Given the description of an element on the screen output the (x, y) to click on. 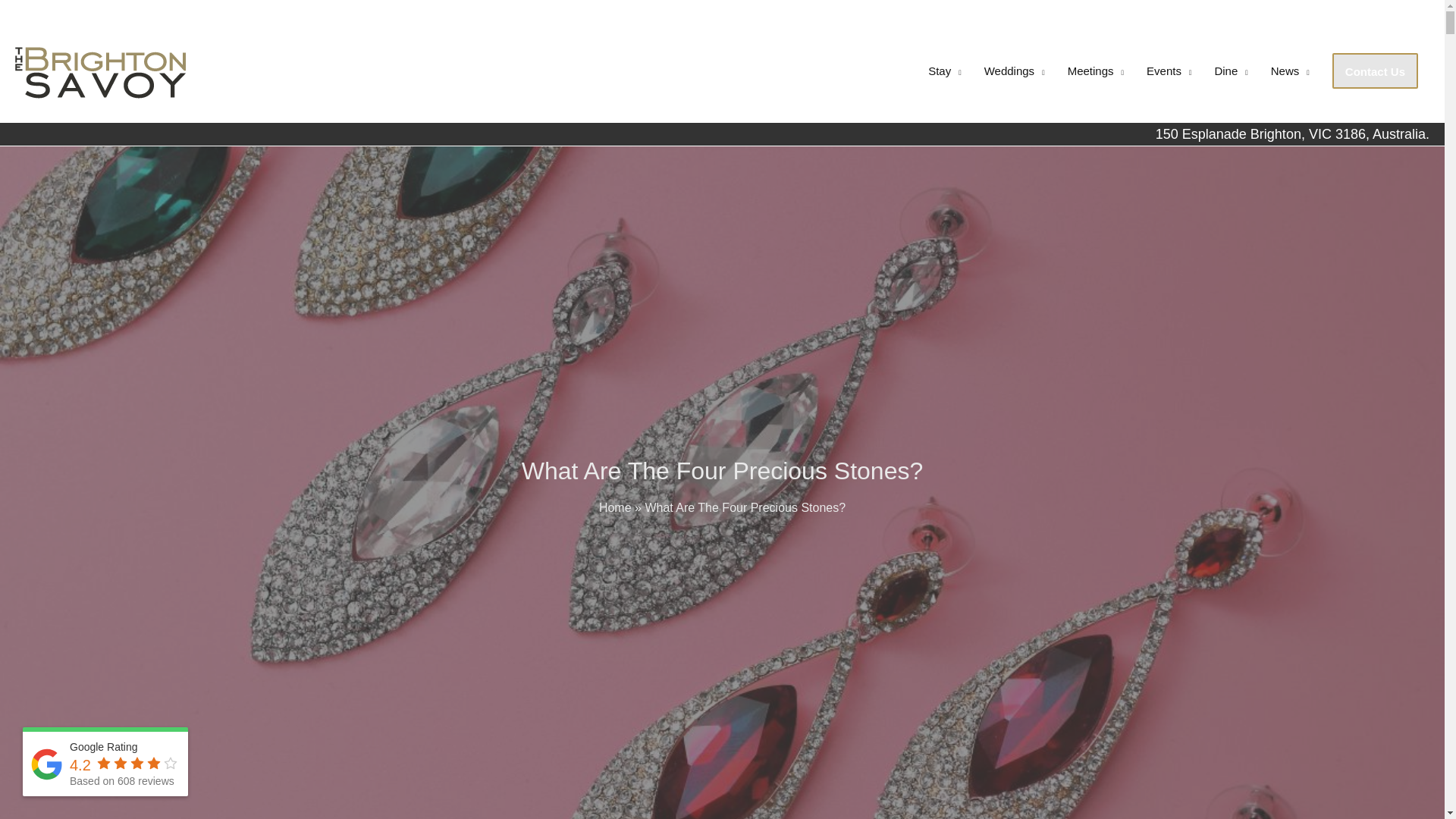
Dine (1230, 71)
Contact Us (1375, 71)
News (1289, 71)
Meetings (1096, 71)
Stay (944, 71)
Events (1168, 71)
Weddings (1014, 71)
Contact Us (1375, 70)
